Given the description of an element on the screen output the (x, y) to click on. 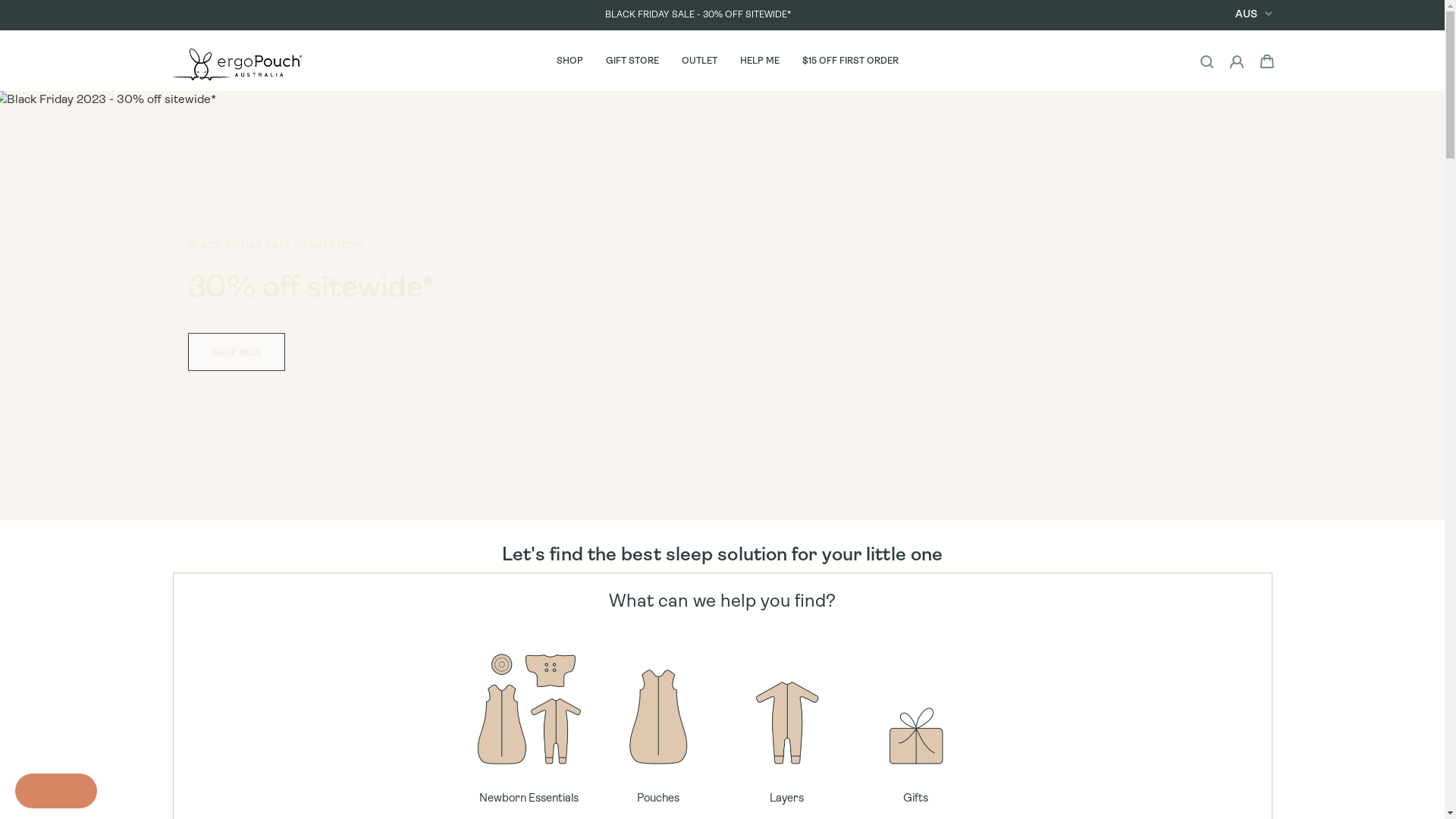
$15 OFF FIRST ORDER Element type: text (849, 60)
HELP ME Element type: text (759, 60)
SHOP Element type: text (568, 60)
ergoPouch The Award-Winning Range Of Organic Baby Sleepwear Element type: hover (236, 57)
ergoPouch The Award-Winning Range Of Organic Baby Sleepwear Element type: hover (236, 64)
OUTLET Element type: text (699, 60)
SHOP NOW Element type: text (236, 351)
BLACK FRIDAY SALE - 30% OFF SITEWIDE* Element type: text (697, 14)
showcart Element type: hover (1266, 61)
GIFT STORE Element type: text (632, 60)
